Given the description of an element on the screen output the (x, y) to click on. 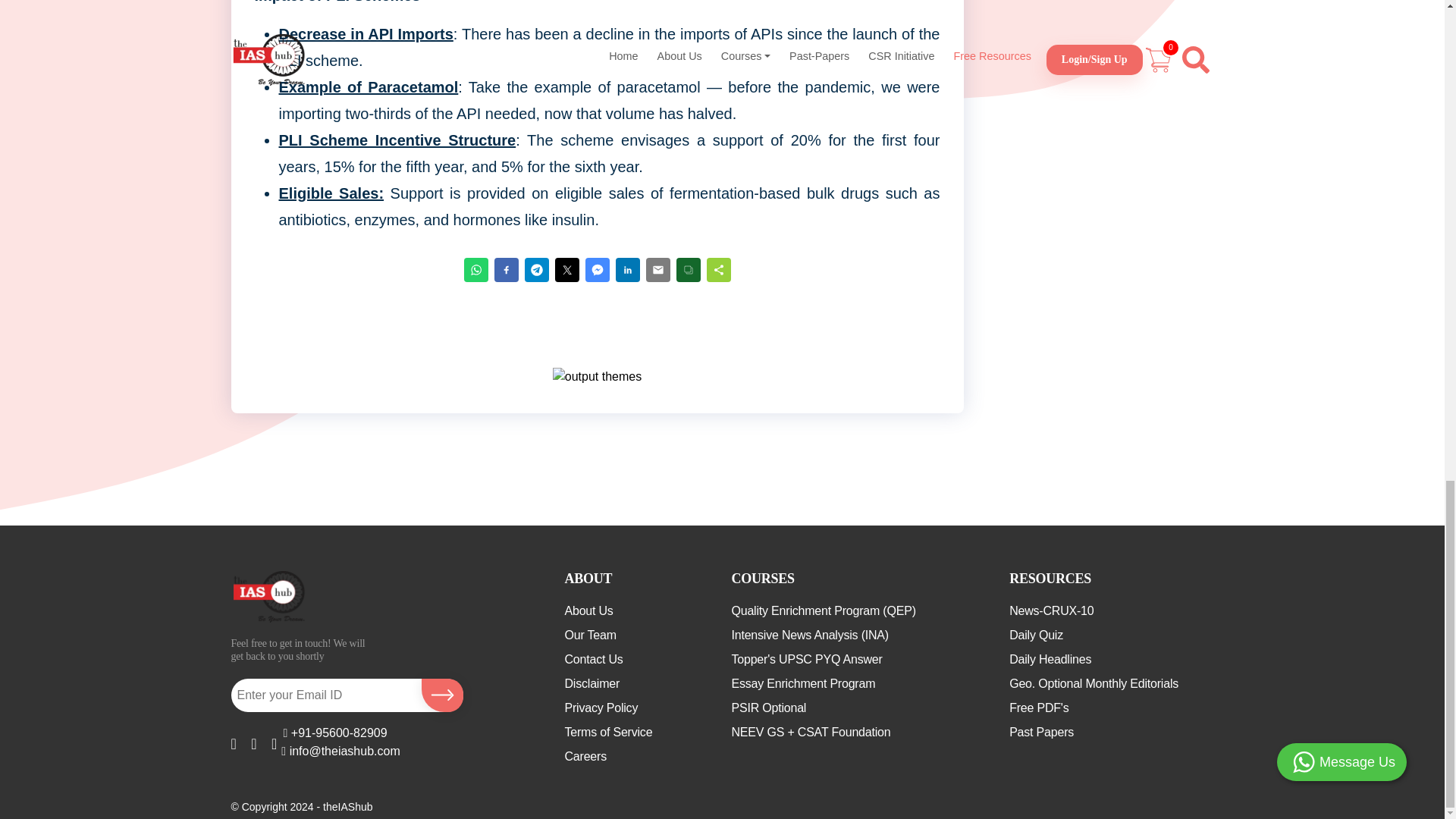
Invalid email address (323, 695)
